Given the description of an element on the screen output the (x, y) to click on. 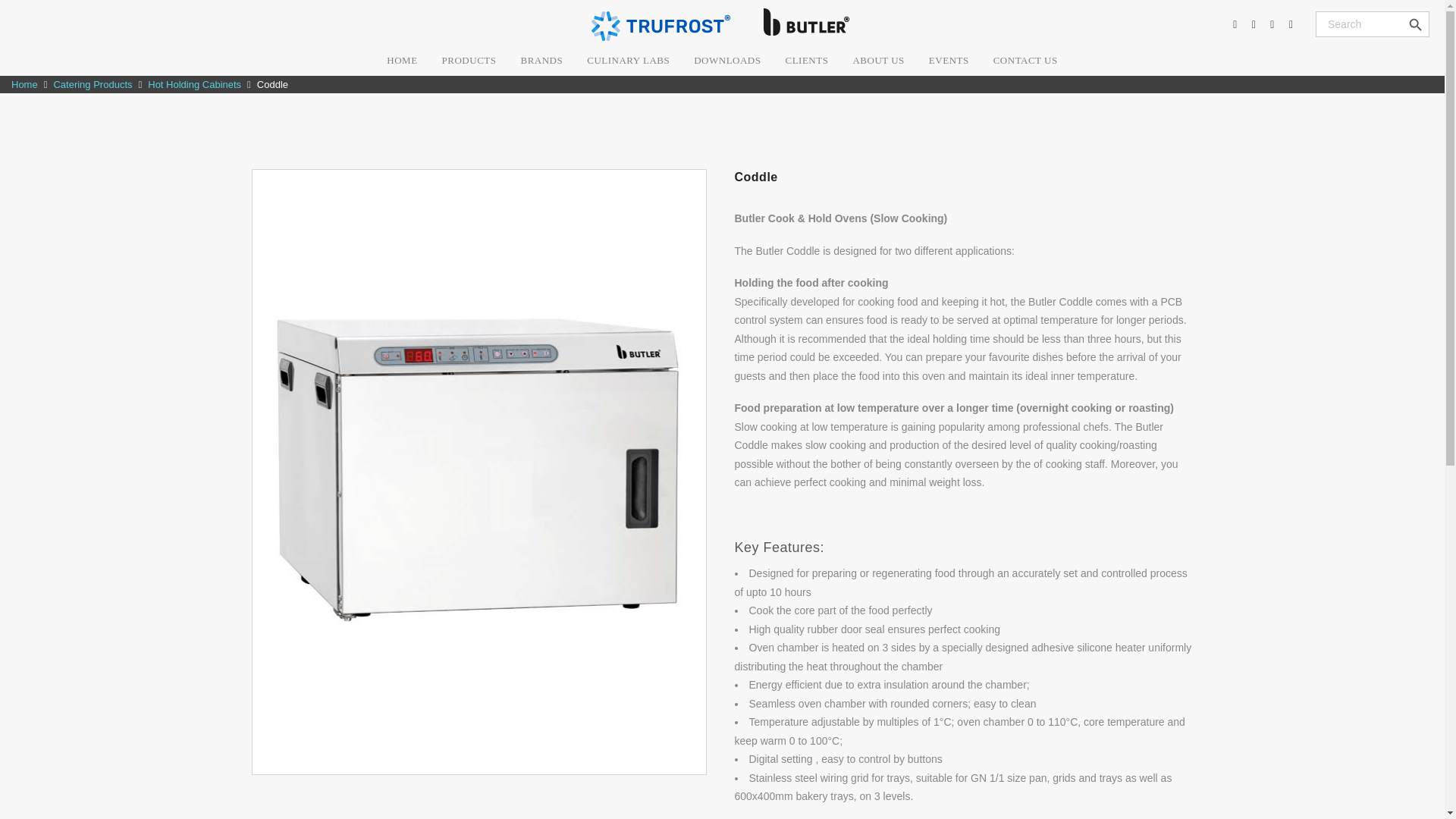
BRANDS (541, 60)
EVENTS (949, 60)
CLIENTS (806, 60)
CONTACT US (1025, 60)
Search Button (1415, 23)
PRODUCTS (468, 60)
CULINARY LABS (628, 60)
ABOUT US (877, 60)
DOWNLOADS (727, 60)
HOME (401, 60)
